Given the description of an element on the screen output the (x, y) to click on. 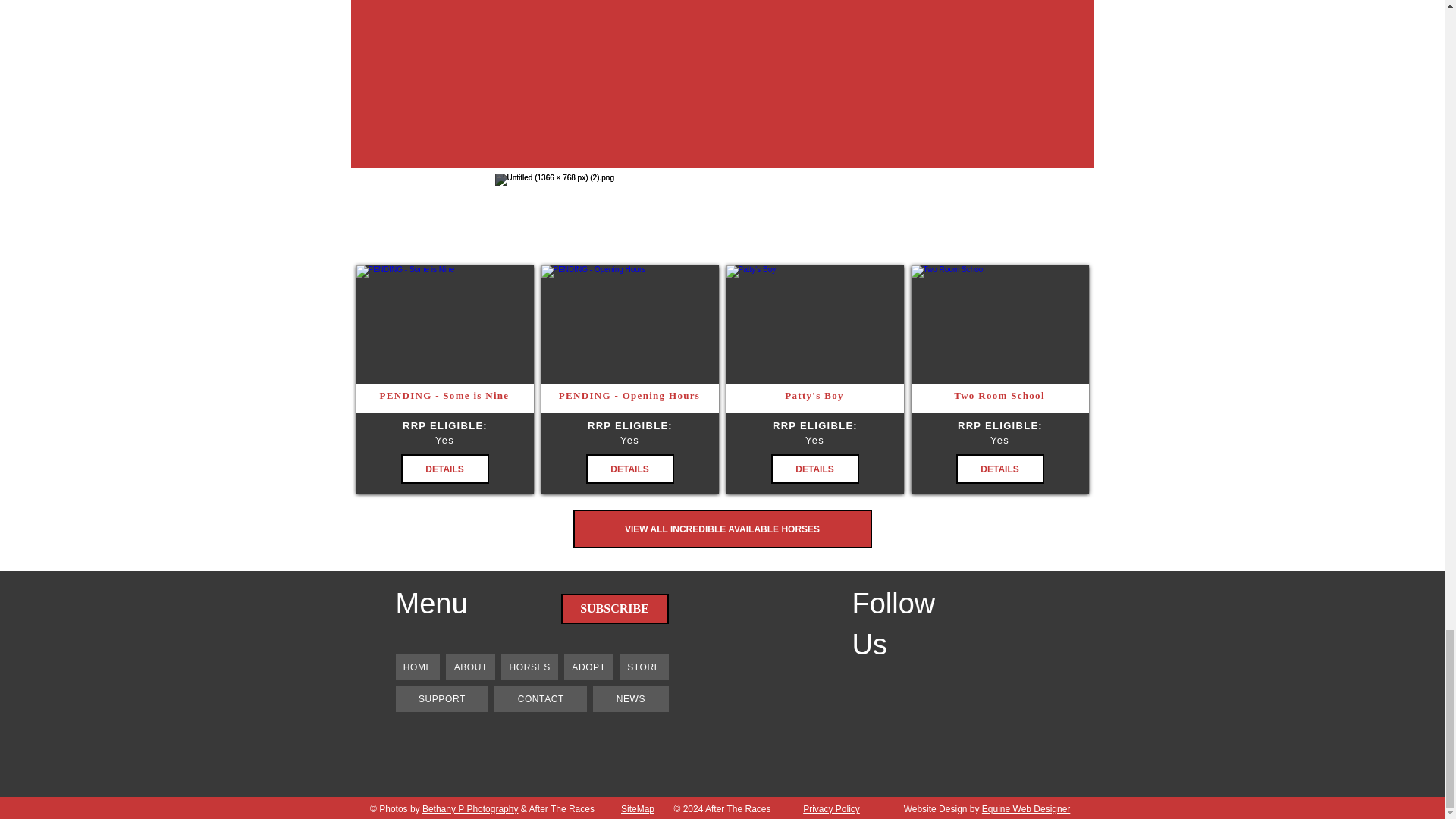
HOME (418, 667)
DETAILS (999, 469)
SUBSCRIBE (614, 608)
ABOUT (470, 667)
DETAILS (628, 469)
VIEW ALL INCREDIBLE AVAILABLE HORSES (722, 528)
DETAILS (814, 469)
DETAILS (443, 469)
